Given the description of an element on the screen output the (x, y) to click on. 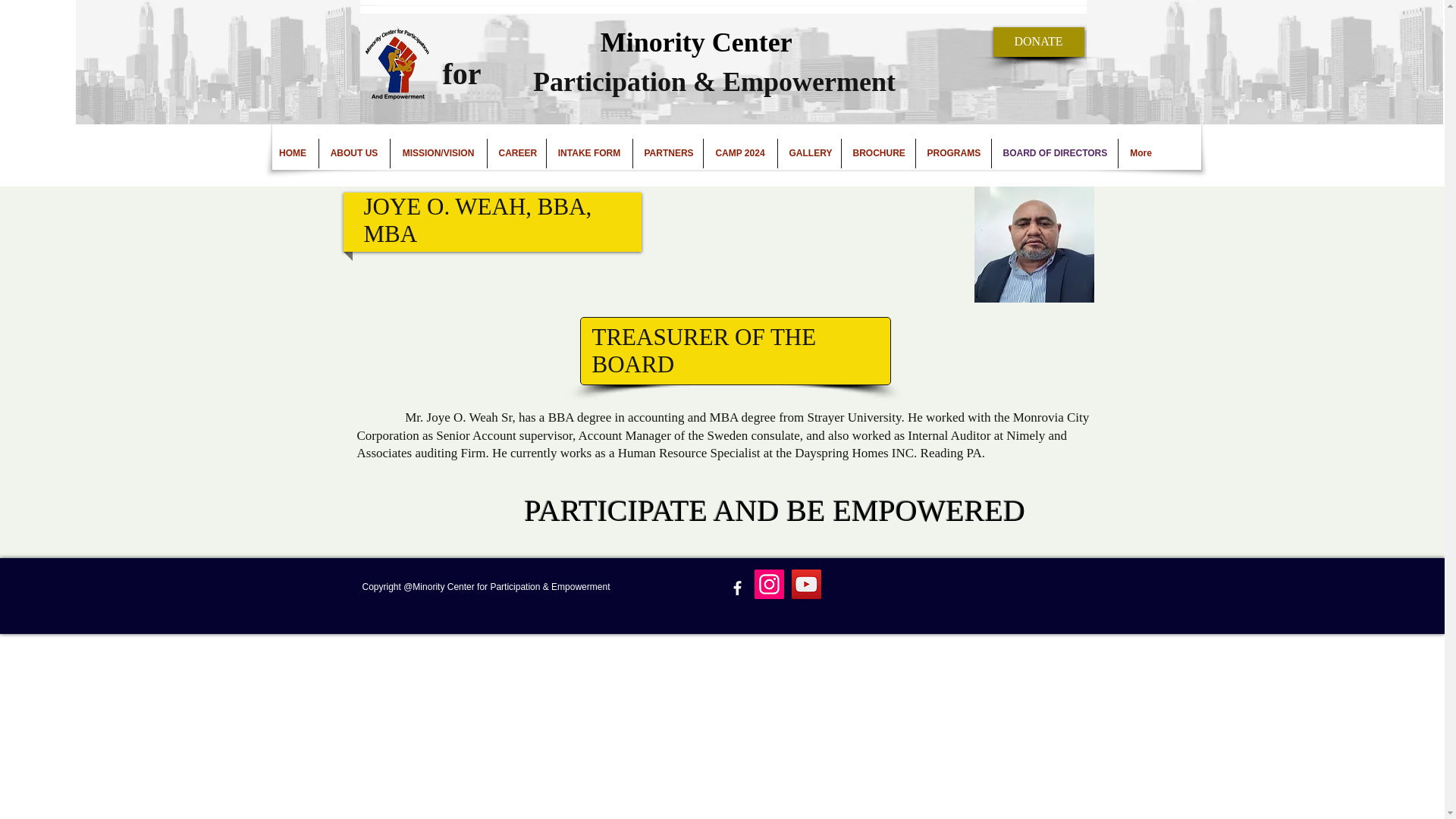
DONATE (1038, 41)
PROGRAMS (953, 153)
HOME (291, 153)
BOARD OF DIRECTORS (1054, 153)
ABOUT US (353, 153)
CAREER (515, 153)
CAMP 2024 (740, 153)
GALLERY (809, 153)
BROCHURE (878, 153)
Weah Pic.jpg (1033, 244)
INTAKE FORM (588, 153)
PARTNERS (666, 153)
